Given the description of an element on the screen output the (x, y) to click on. 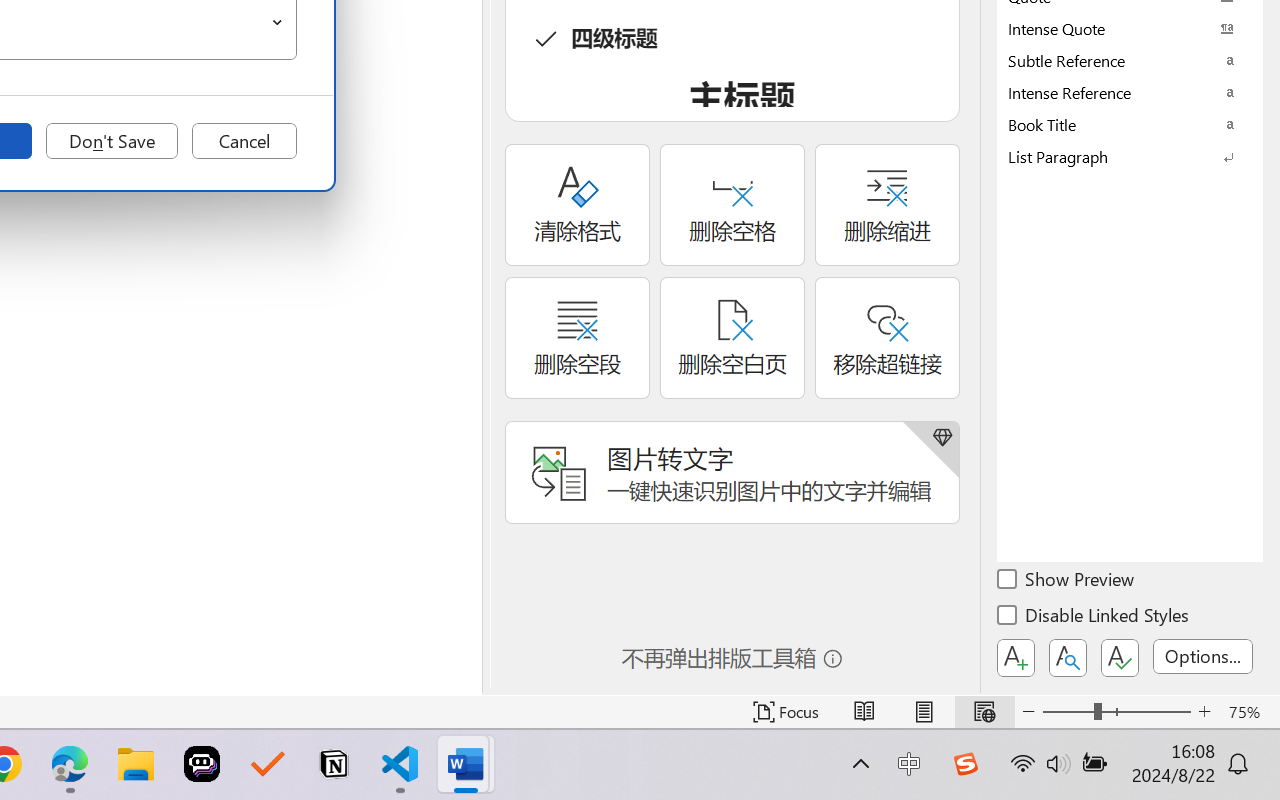
Class: NetUIButton (1119, 657)
Book Title (1130, 124)
Don't Save (111, 141)
Web Layout (984, 712)
Notion (333, 764)
Subtle Reference (1130, 60)
Show Preview (1067, 582)
